Given the description of an element on the screen output the (x, y) to click on. 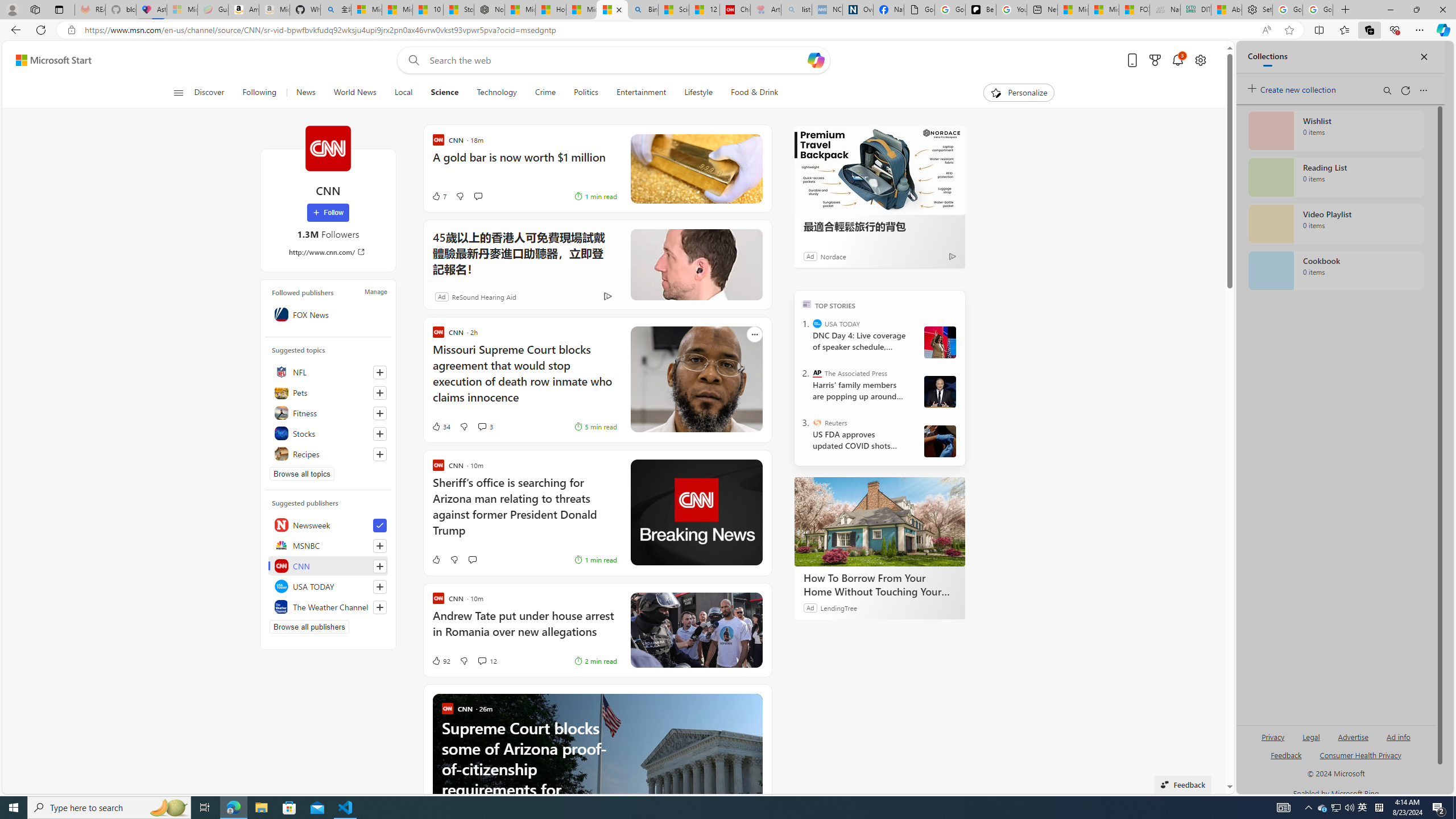
Like (422, 559)
CNN (327, 565)
12 Popular Science Lies that Must be Corrected (704, 9)
Follow this topic (379, 454)
Browse all topics (301, 473)
The Associated Press (816, 372)
